Given the description of an element on the screen output the (x, y) to click on. 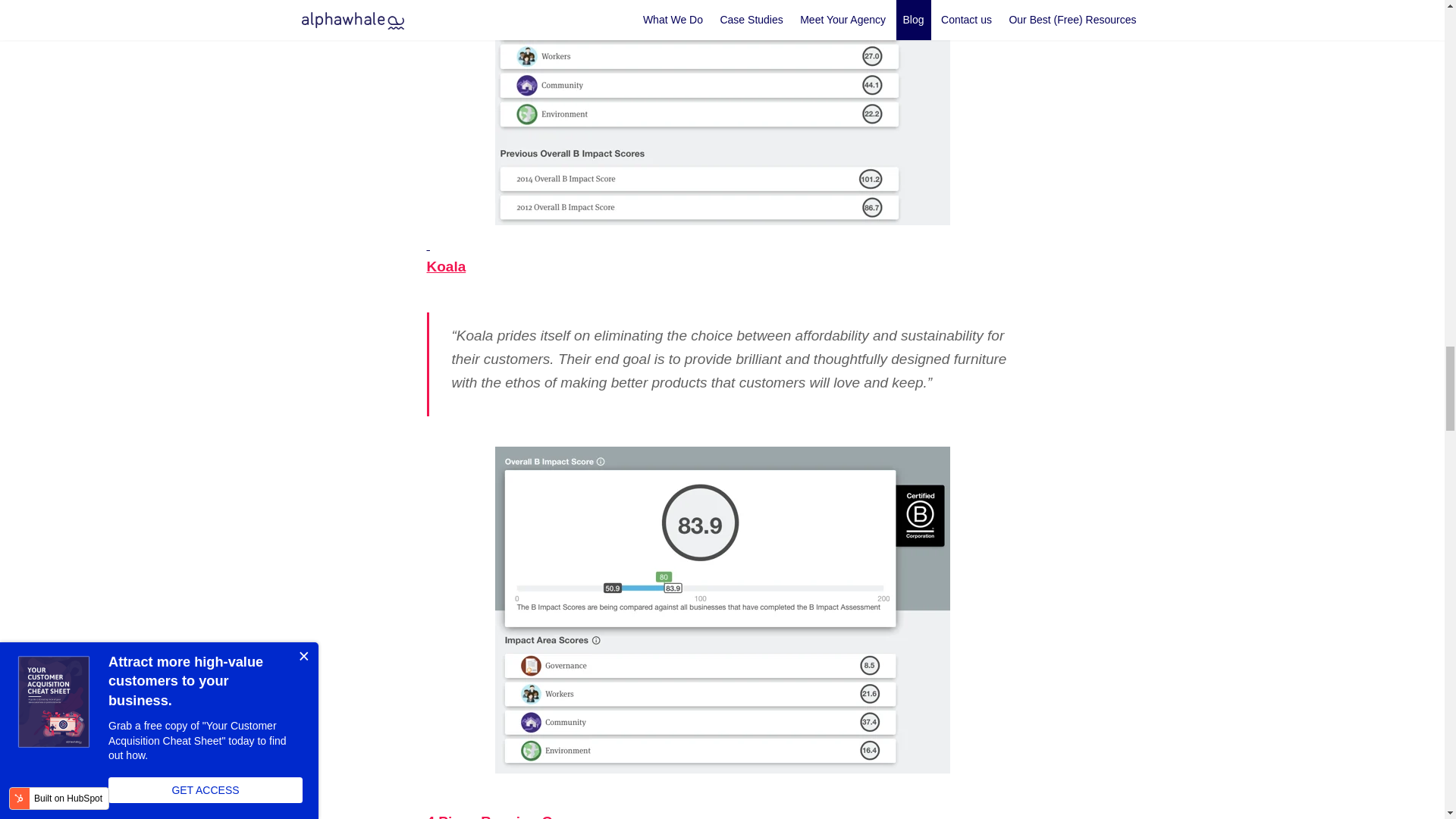
4 Pines Brewing Company (516, 816)
Koala (445, 266)
